Given the description of an element on the screen output the (x, y) to click on. 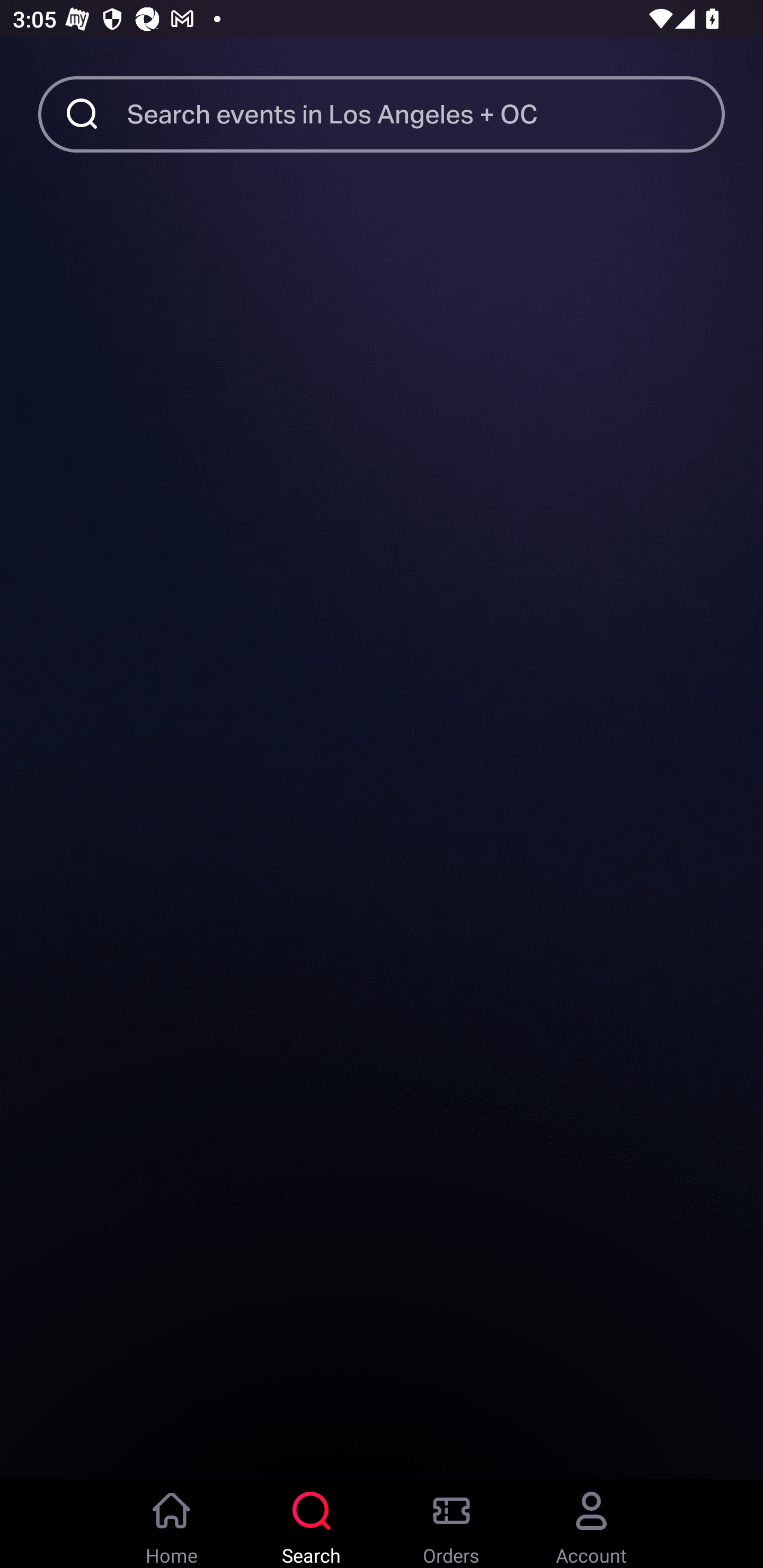
Search events in Los Angeles + OC (425, 113)
Home (171, 1523)
Orders (451, 1523)
Account (591, 1523)
